Given the description of an element on the screen output the (x, y) to click on. 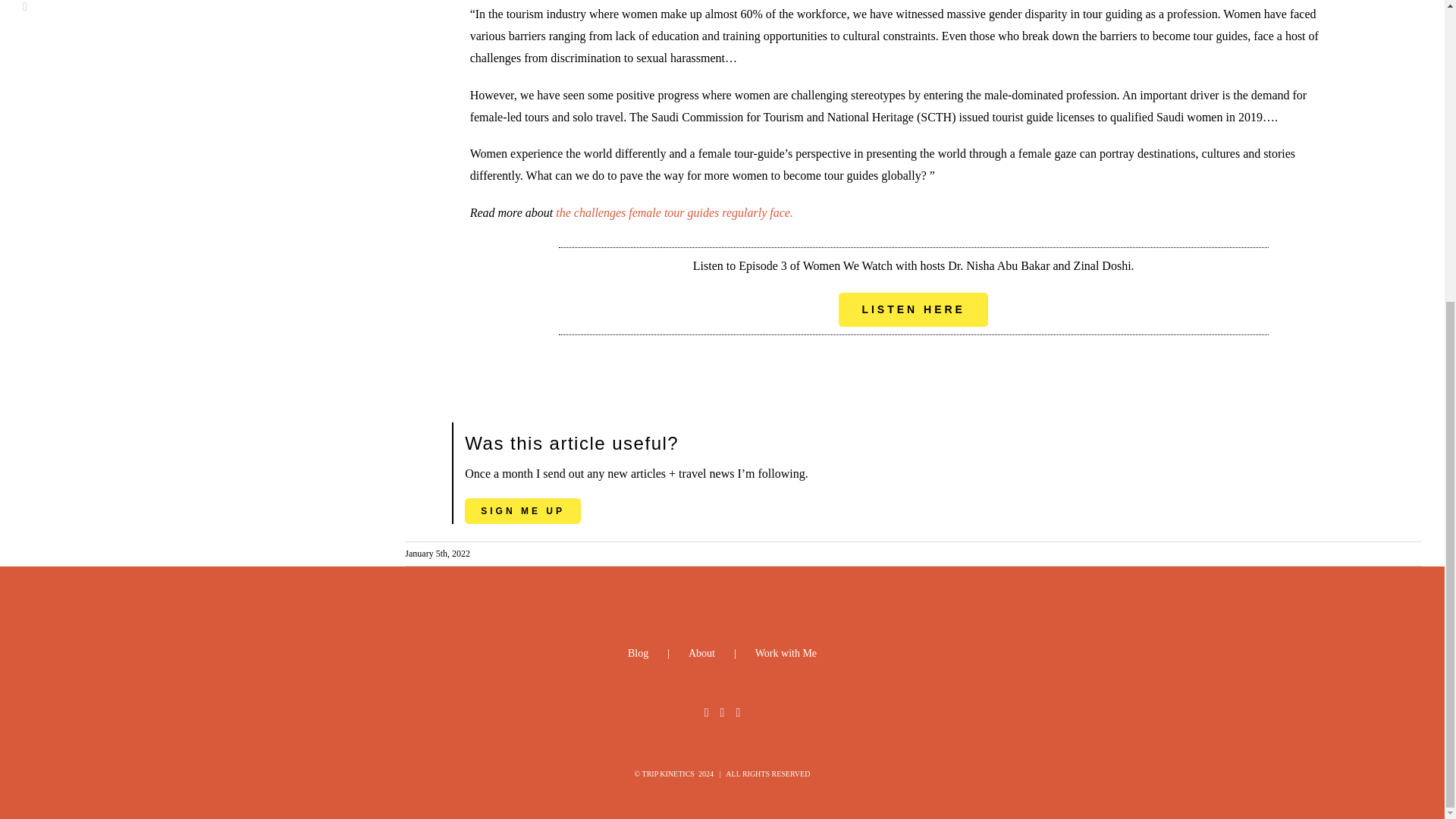
the challenges female tour guides regularly face. (674, 212)
Blog (657, 652)
LISTEN HERE (913, 309)
About (721, 652)
SIGN ME UP (522, 510)
Work with Me (785, 652)
